Given the description of an element on the screen output the (x, y) to click on. 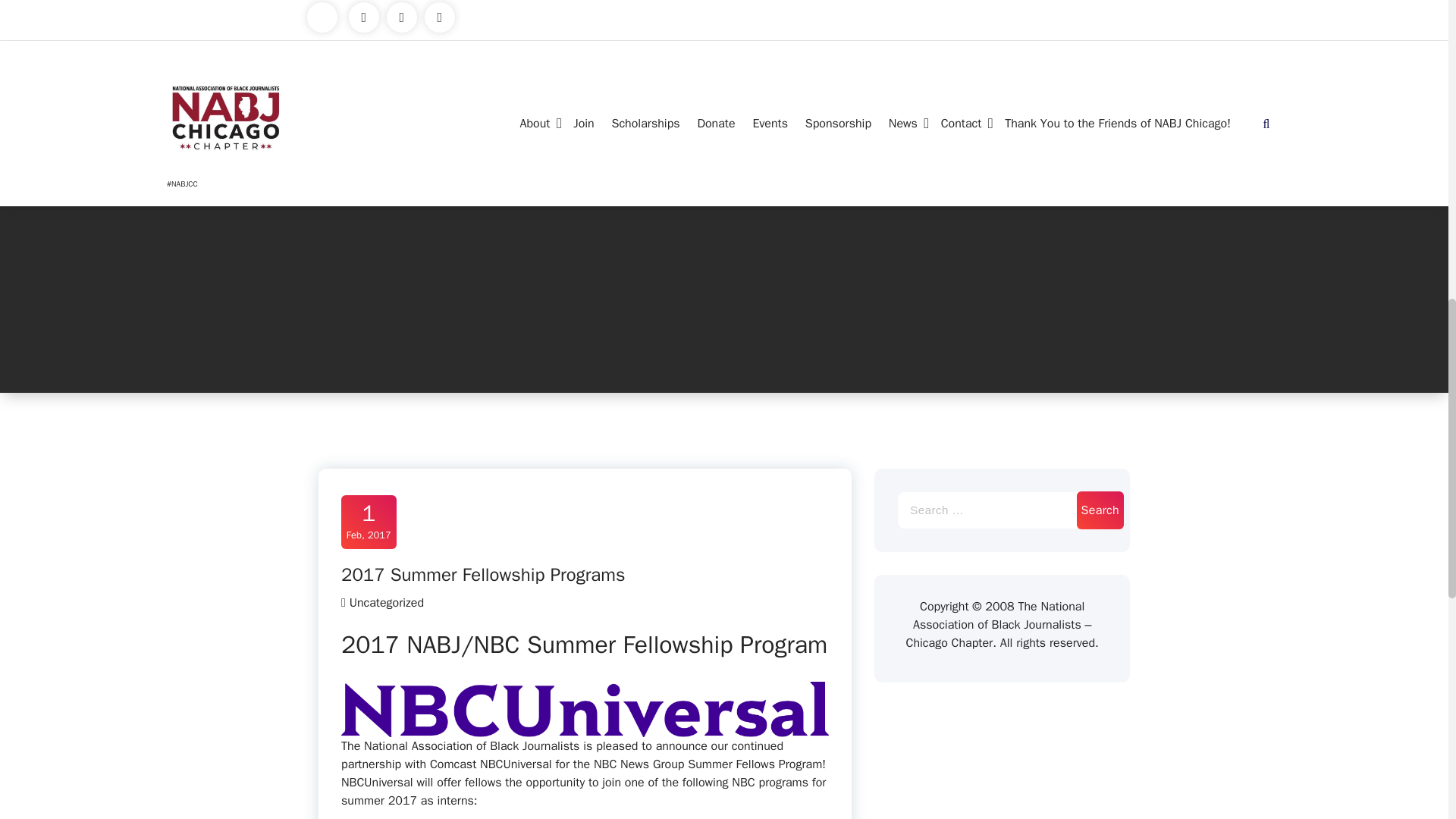
Search (1100, 510)
About (538, 123)
Search (1100, 510)
